Given the description of an element on the screen output the (x, y) to click on. 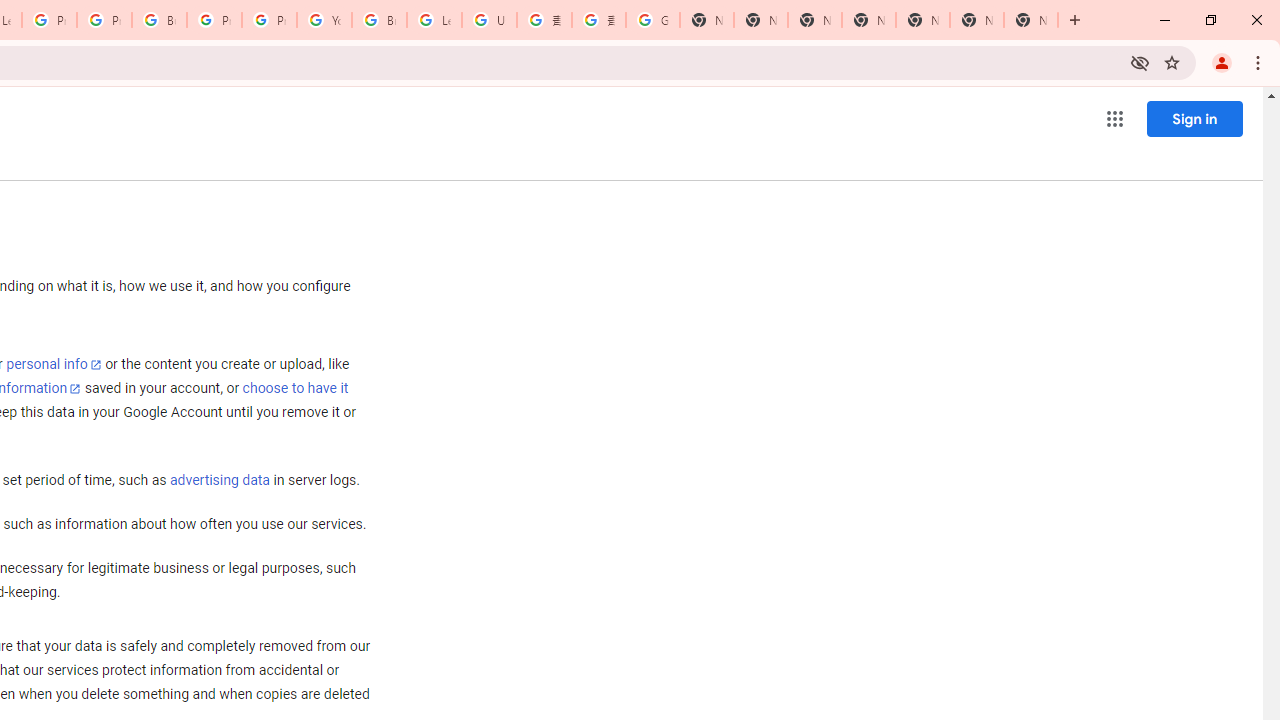
Privacy Help Center - Policies Help (48, 20)
Google Images (652, 20)
personal info (54, 364)
YouTube (324, 20)
